Given the description of an element on the screen output the (x, y) to click on. 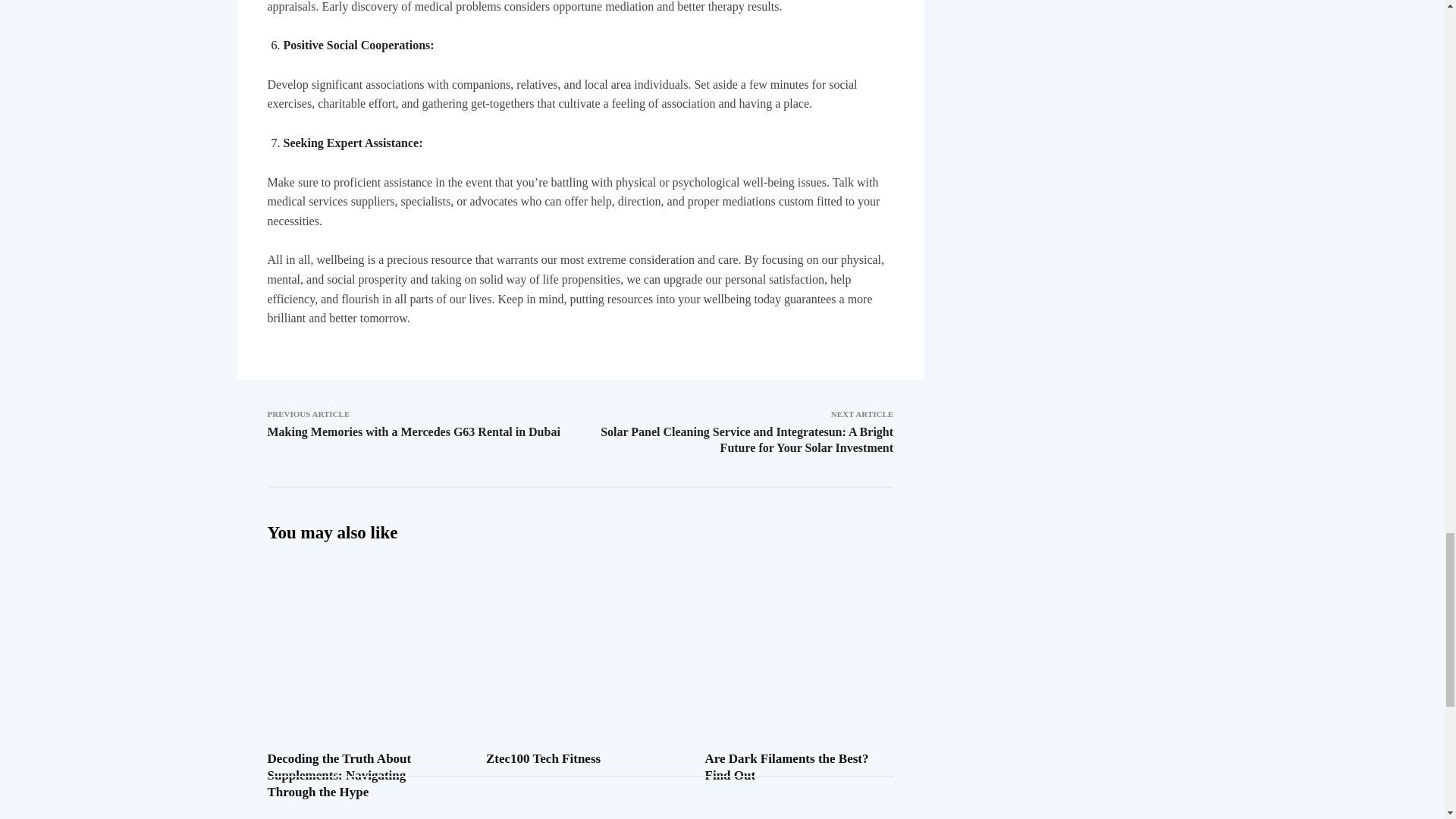
Ztec100 Tech Fitness (580, 623)
Are Dark Filaments the Best? Find Out (786, 766)
Ztec100 Tech Fitness (542, 758)
Are Dark Filaments the Best? Find Out (798, 623)
